Given the description of an element on the screen output the (x, y) to click on. 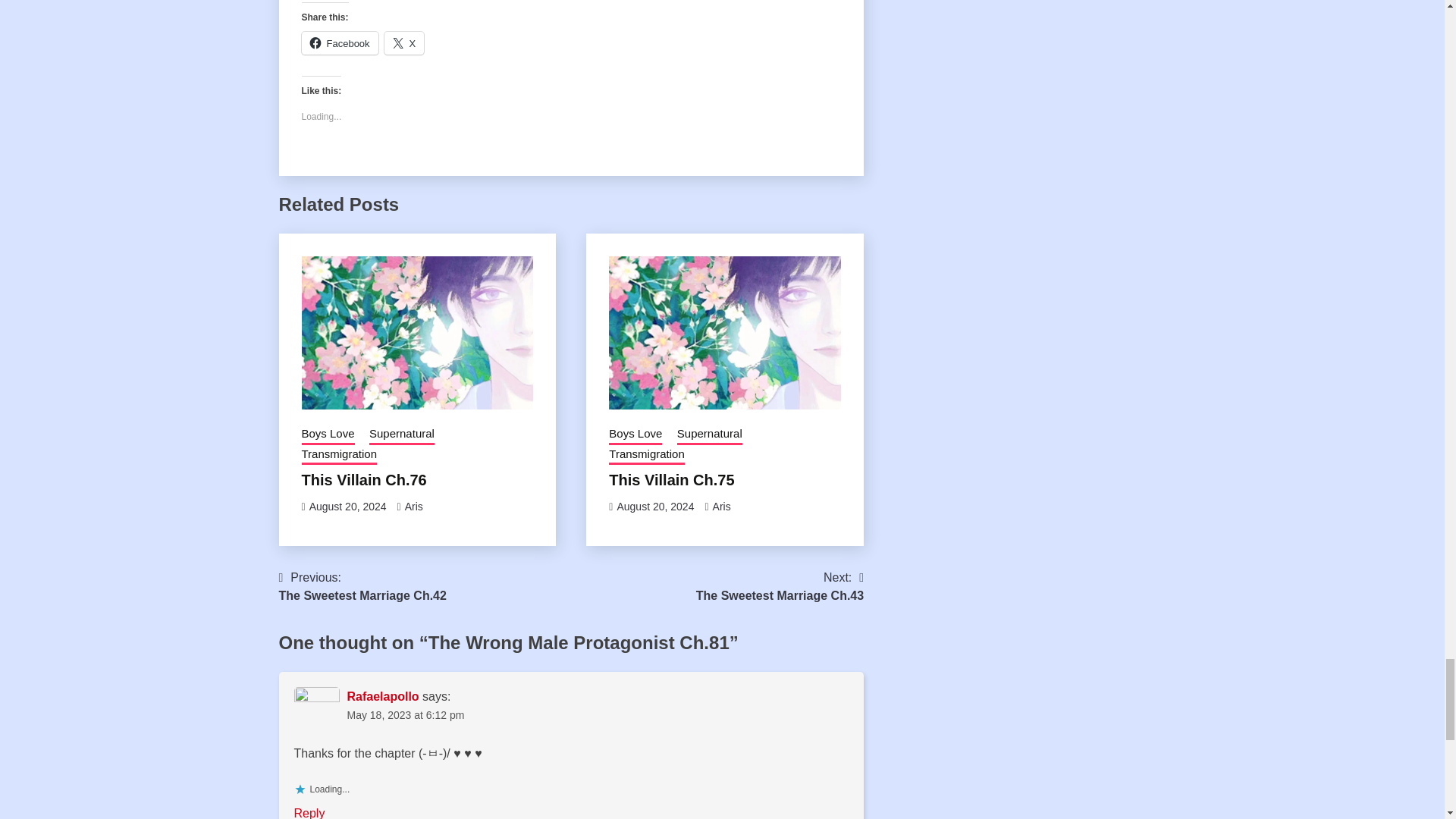
Click to share on Facebook (339, 42)
Supernatural (709, 435)
Supernatural (401, 435)
This Villain Ch.75 (670, 479)
August 20, 2024 (347, 506)
Aris (413, 506)
Click to share on X (404, 42)
Boys Love (635, 435)
Transmigration (646, 455)
X (404, 42)
